Given the description of an element on the screen output the (x, y) to click on. 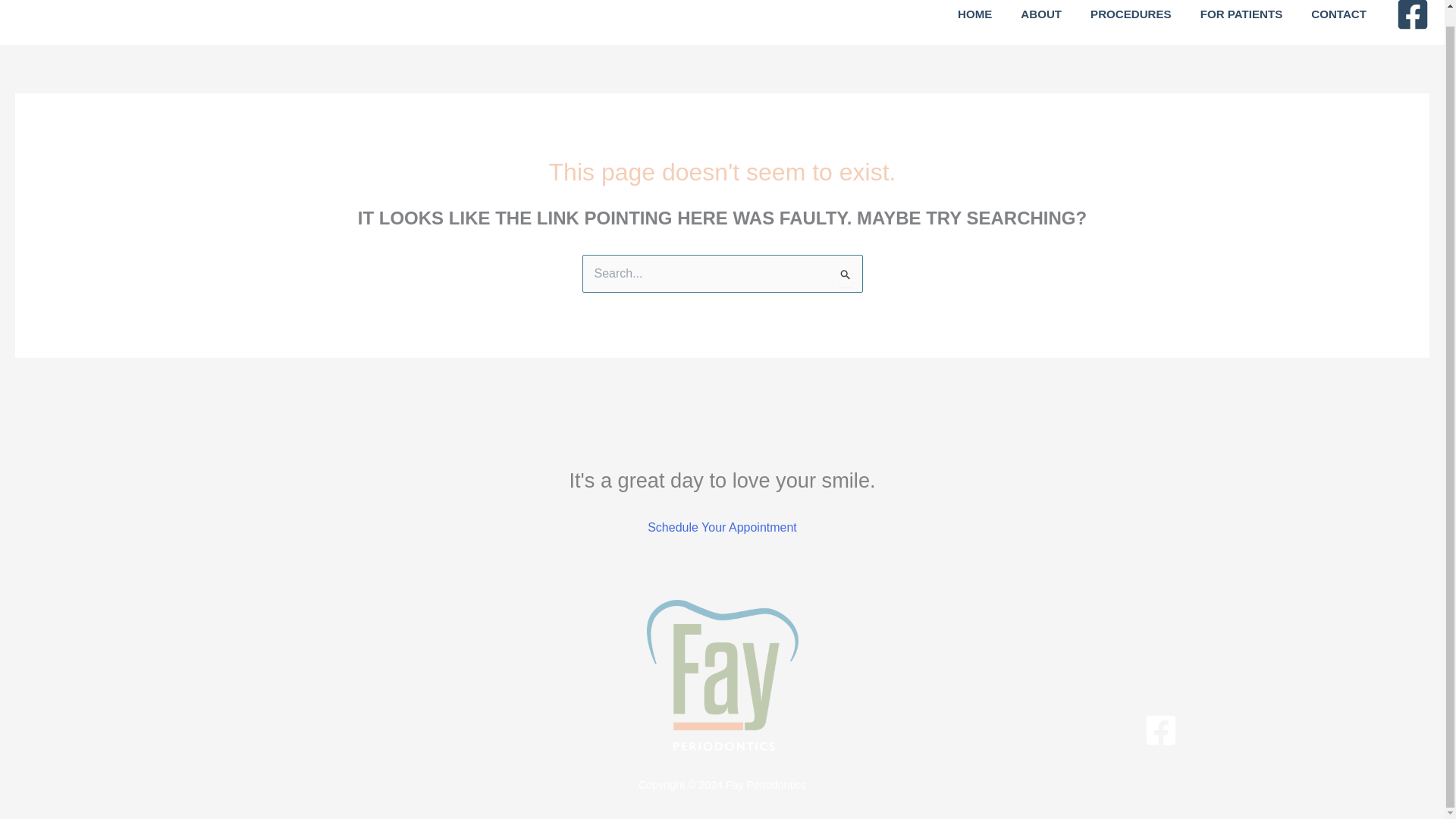
ABOUT (1040, 15)
CONTACT (1338, 15)
PROCEDURES (1131, 15)
FOR PATIENTS (1241, 15)
Schedule Your Appointment (721, 526)
HOME (975, 15)
